Given the description of an element on the screen output the (x, y) to click on. 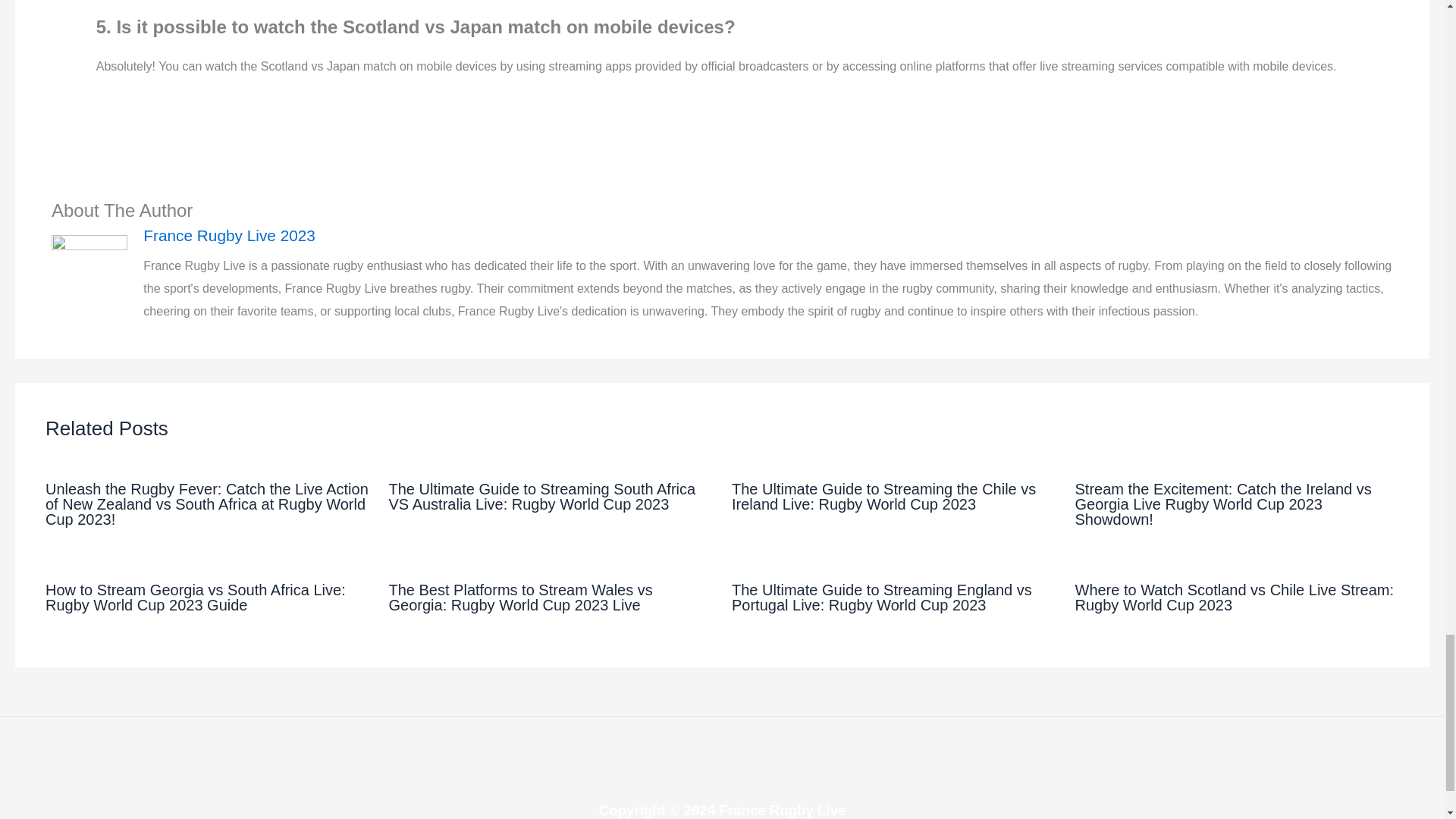
France Rugby Live 2023 (767, 235)
